Given the description of an element on the screen output the (x, y) to click on. 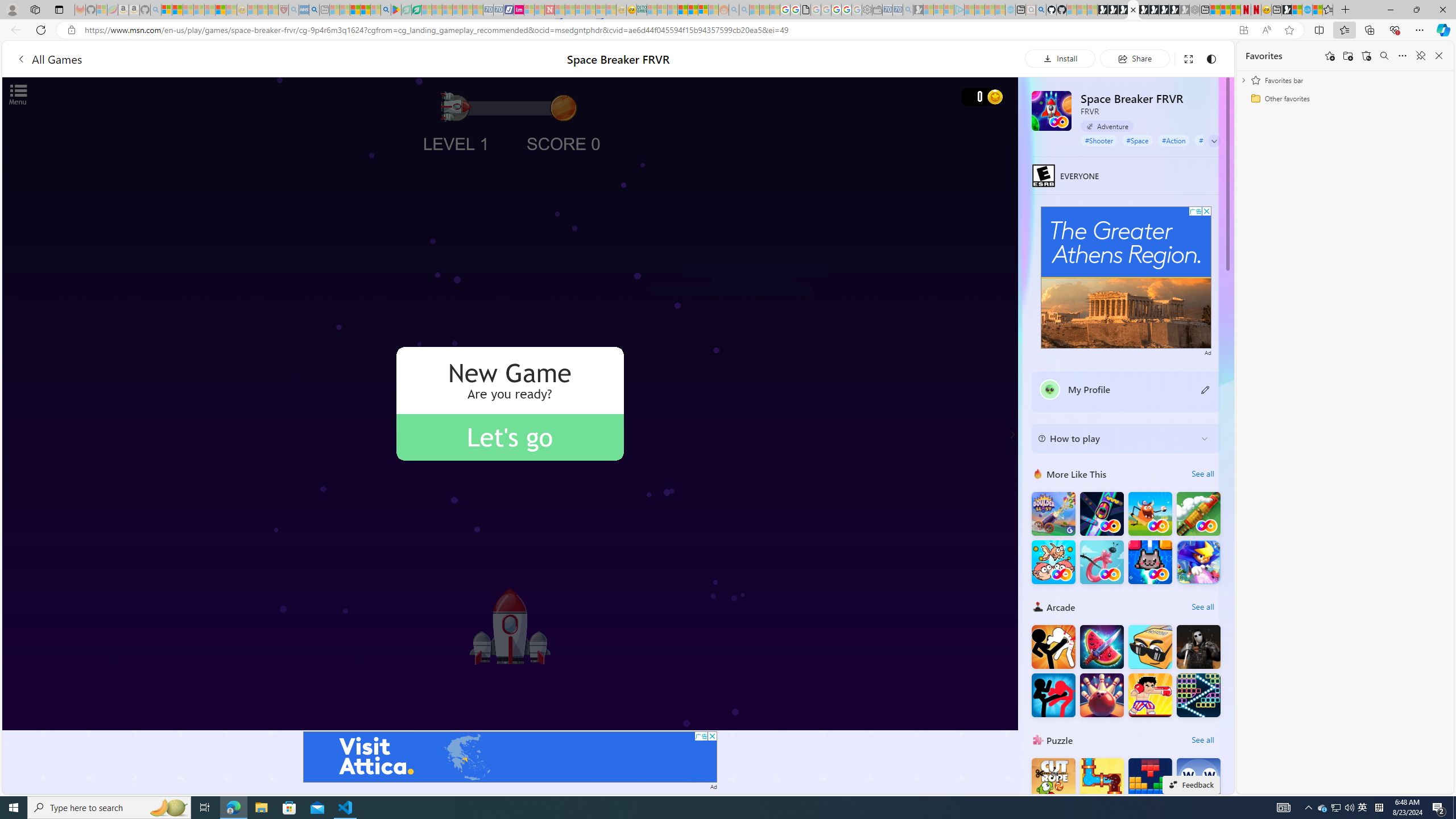
Puzzle (1037, 739)
Class: button edit-icon (1205, 388)
Bricks Breaker Deluxe Crusher (1198, 694)
